Given the description of an element on the screen output the (x, y) to click on. 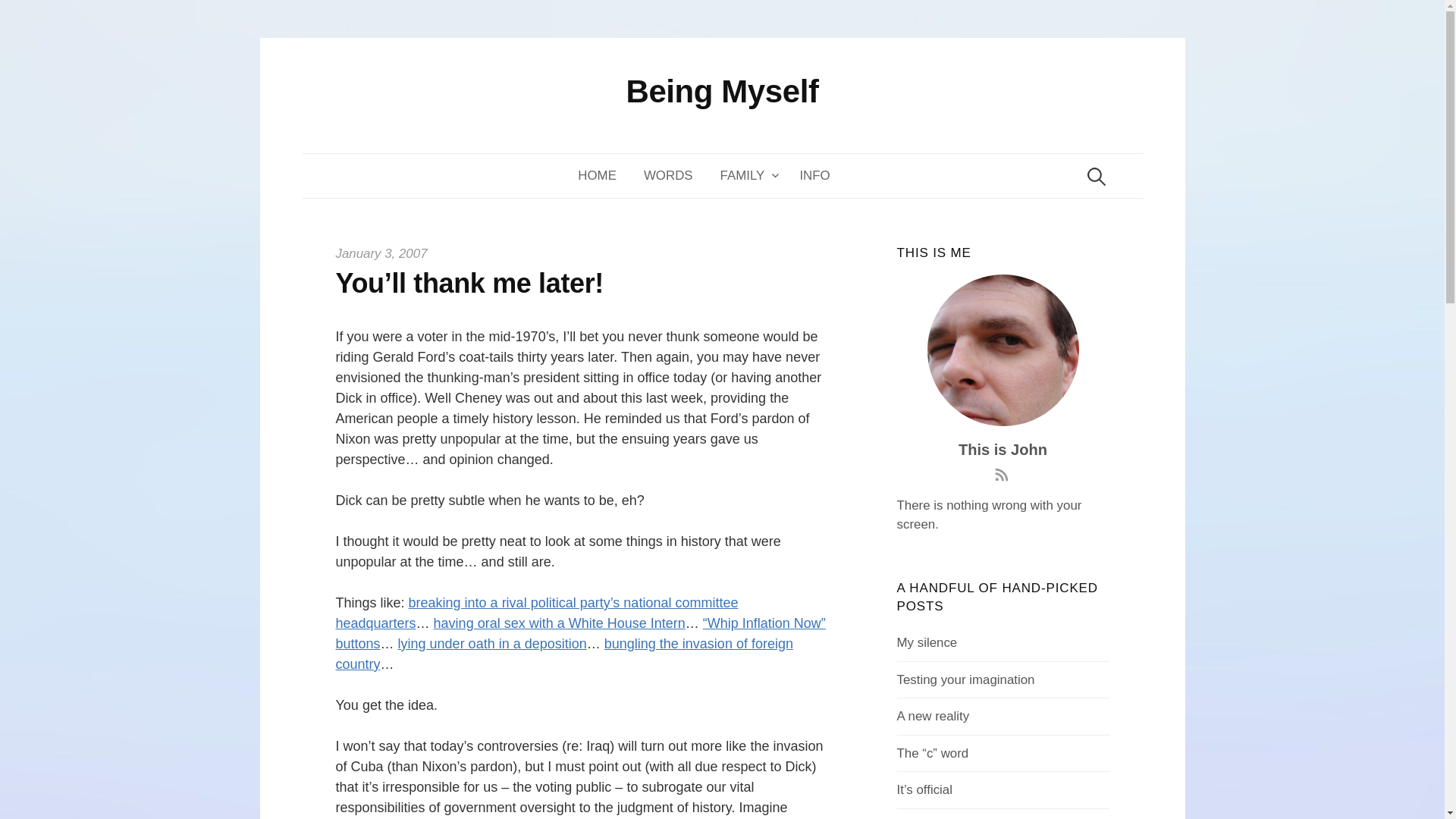
having oral sex with a White House Intern (559, 622)
HOME (604, 175)
WORDS (668, 175)
Being Myself (722, 90)
INFO (814, 175)
January 3, 2007 (380, 253)
Testing your imagination (965, 679)
Search (18, 18)
FAMILY (746, 175)
